Given the description of an element on the screen output the (x, y) to click on. 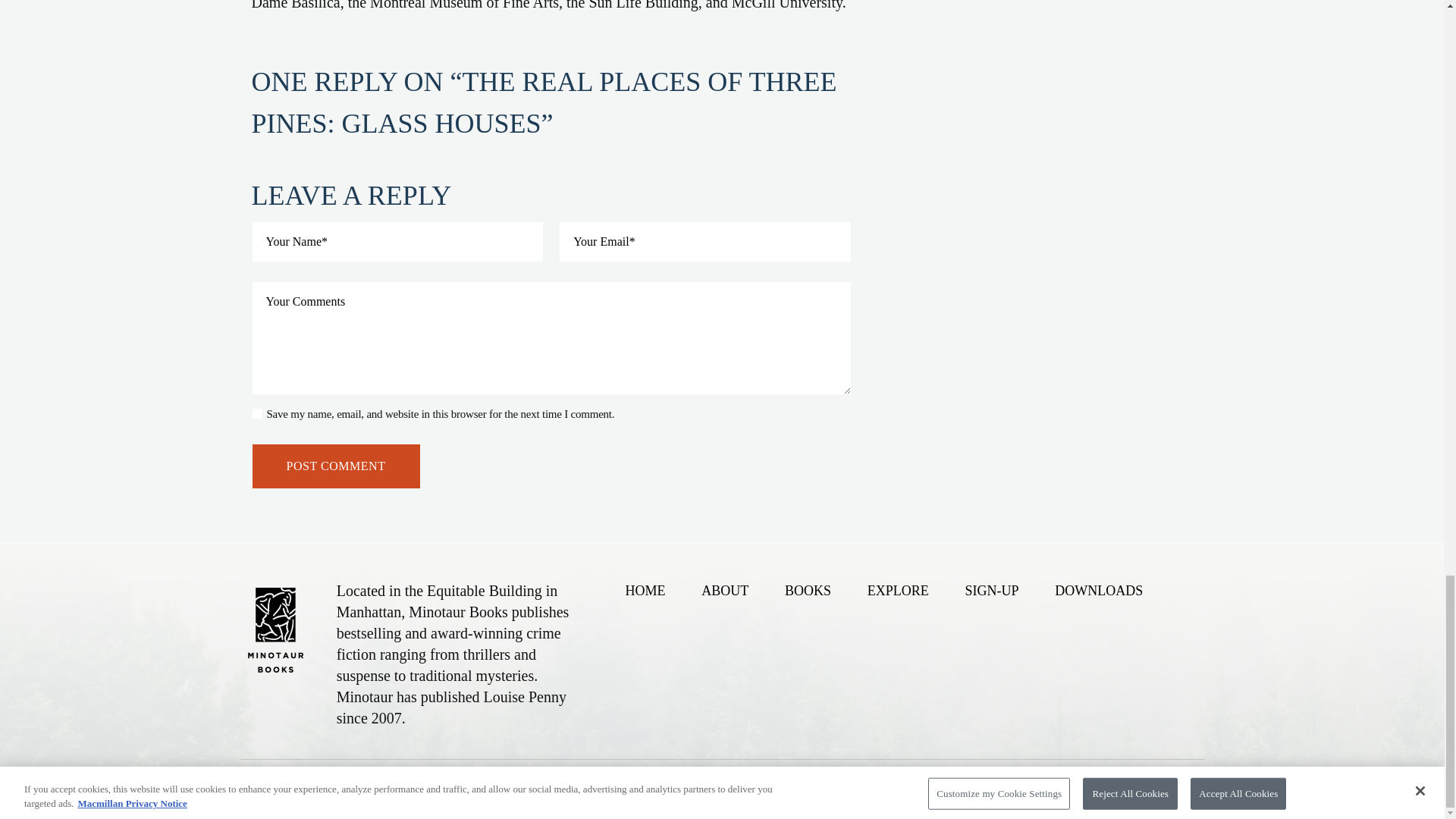
yes (257, 413)
Post Comment (335, 465)
ABOUT (724, 590)
HOME (644, 590)
EXPLORE (897, 590)
BOOKS (807, 590)
SIGN-UP (990, 590)
Post Comment (335, 465)
